Given the description of an element on the screen output the (x, y) to click on. 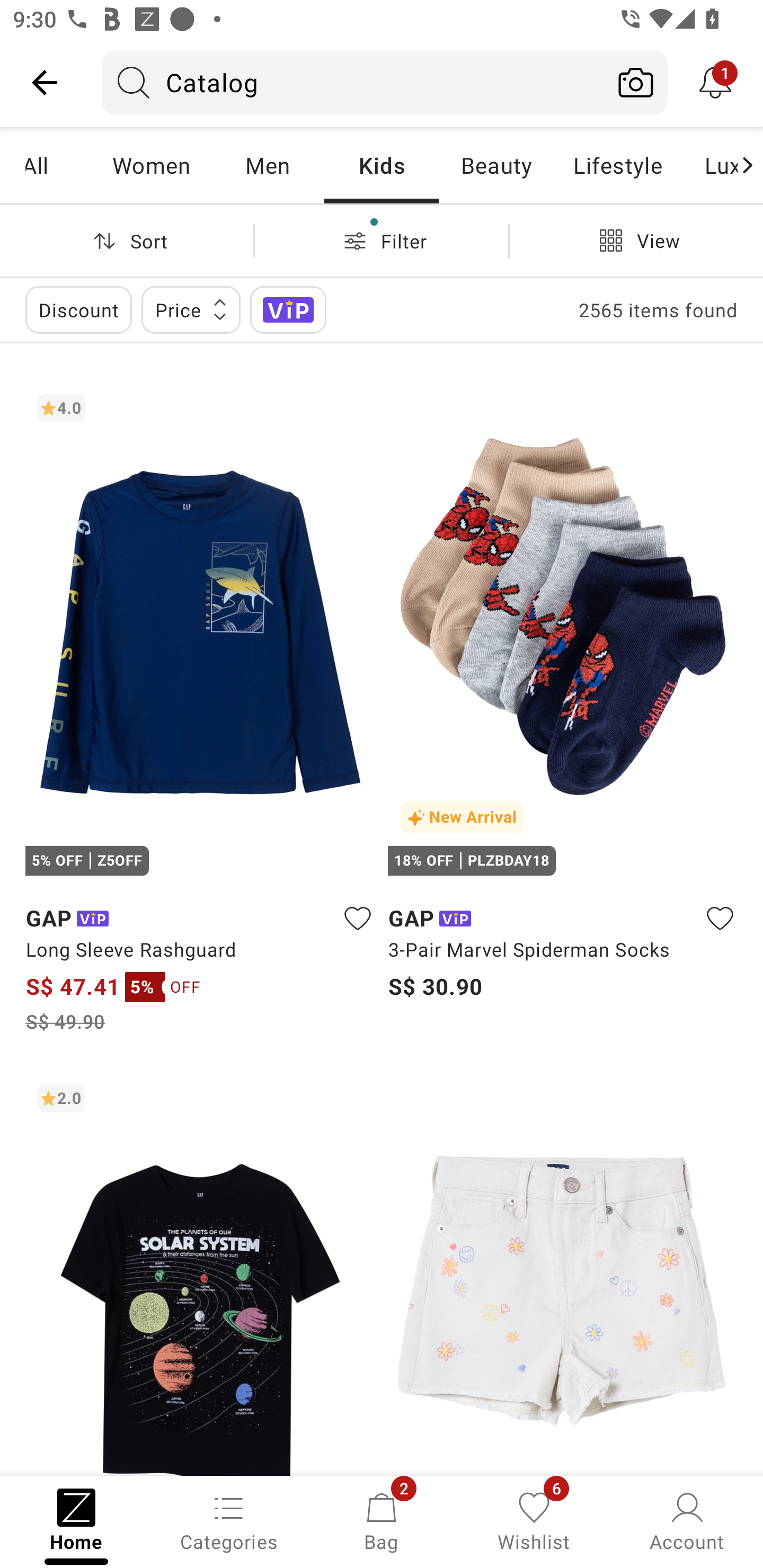
Navigate up (44, 82)
Catalog (352, 82)
All (59, 165)
Women (151, 165)
Men (266, 165)
Beauty (495, 165)
Lifestyle (617, 165)
Sort (126, 240)
Filter (381, 240)
View (636, 240)
Discount (78, 309)
Price (190, 309)
2.0 (200, 1272)
Categories (228, 1519)
Bag, 2 new notifications Bag (381, 1519)
Wishlist, 6 new notifications Wishlist (533, 1519)
Account (686, 1519)
